Given the description of an element on the screen output the (x, y) to click on. 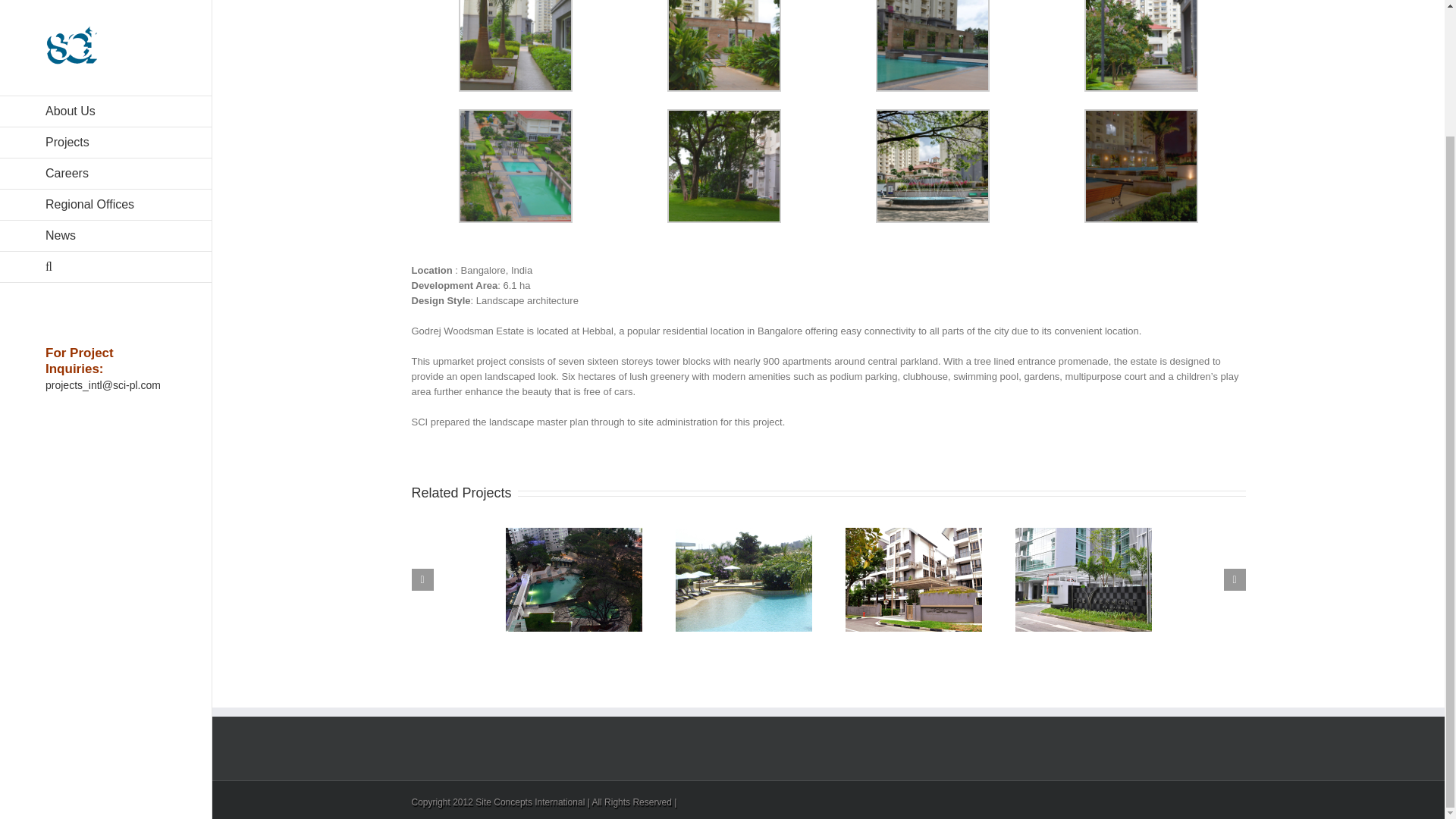
Regional Offices (105, 51)
Projects (105, 2)
News (105, 83)
Careers (105, 20)
